Given the description of an element on the screen output the (x, y) to click on. 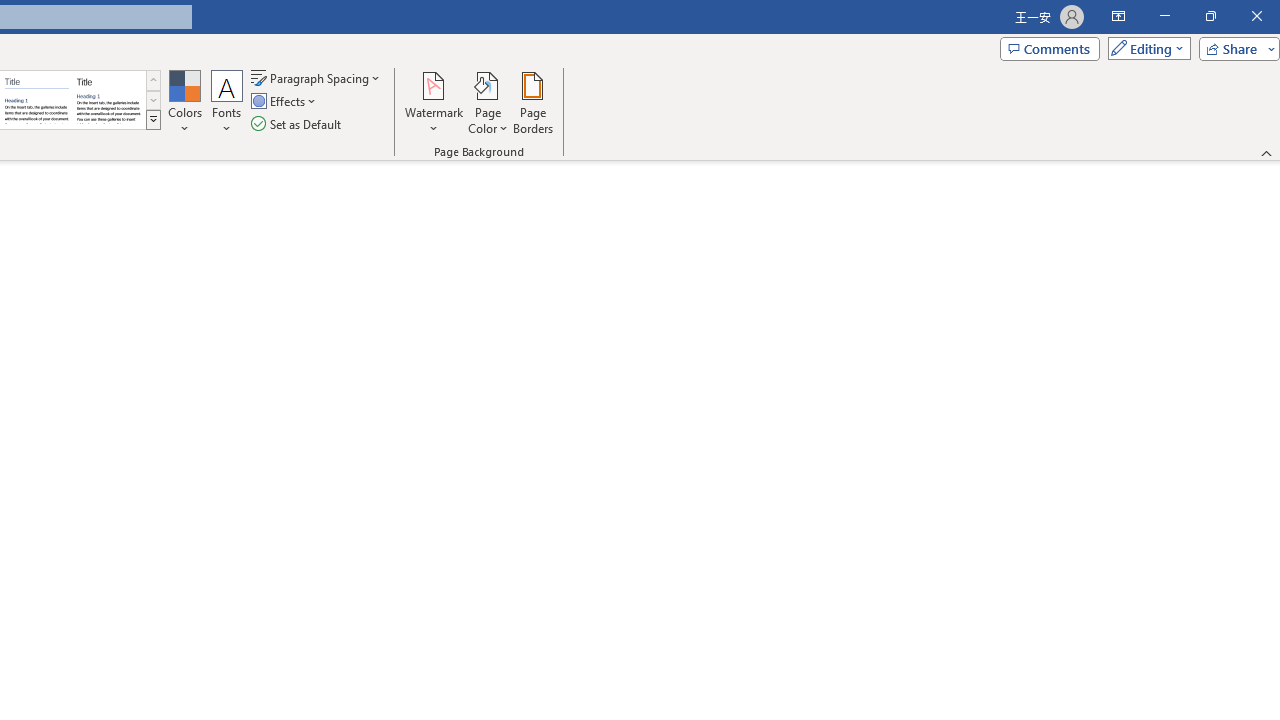
Watermark (434, 102)
Style Set (153, 120)
Effects (285, 101)
Fonts (227, 102)
Word 2010 (36, 100)
Paragraph Spacing (317, 78)
Set as Default (298, 124)
